Given the description of an element on the screen output the (x, y) to click on. 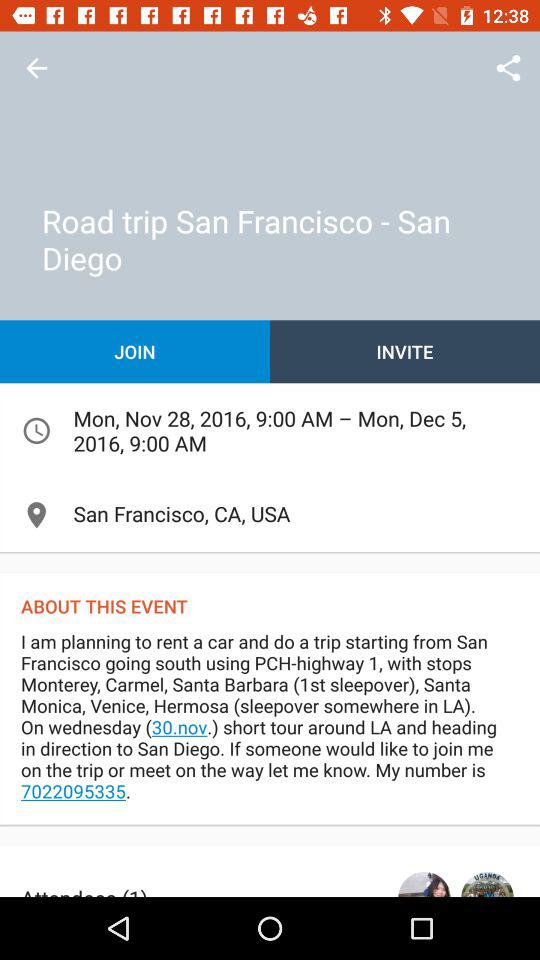
choose icon above mon nov 28 (135, 351)
